Given the description of an element on the screen output the (x, y) to click on. 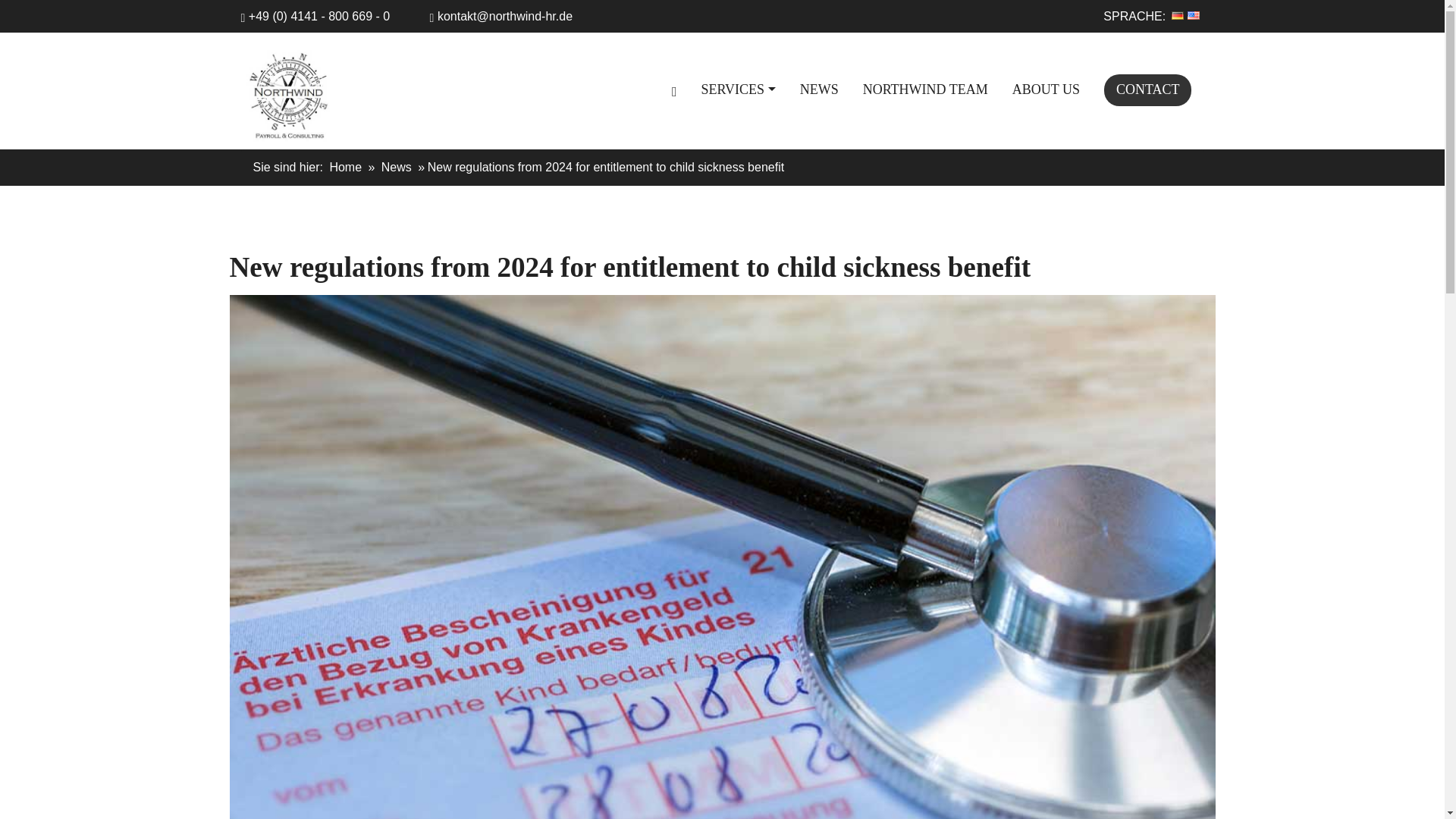
Northwind Startpage (673, 90)
Home (345, 167)
NEWS (818, 90)
ABOUT US (1046, 90)
News (396, 167)
CONTACT (1147, 90)
NORTHWIND TEAM (925, 90)
SERVICES (737, 90)
